Given the description of an element on the screen output the (x, y) to click on. 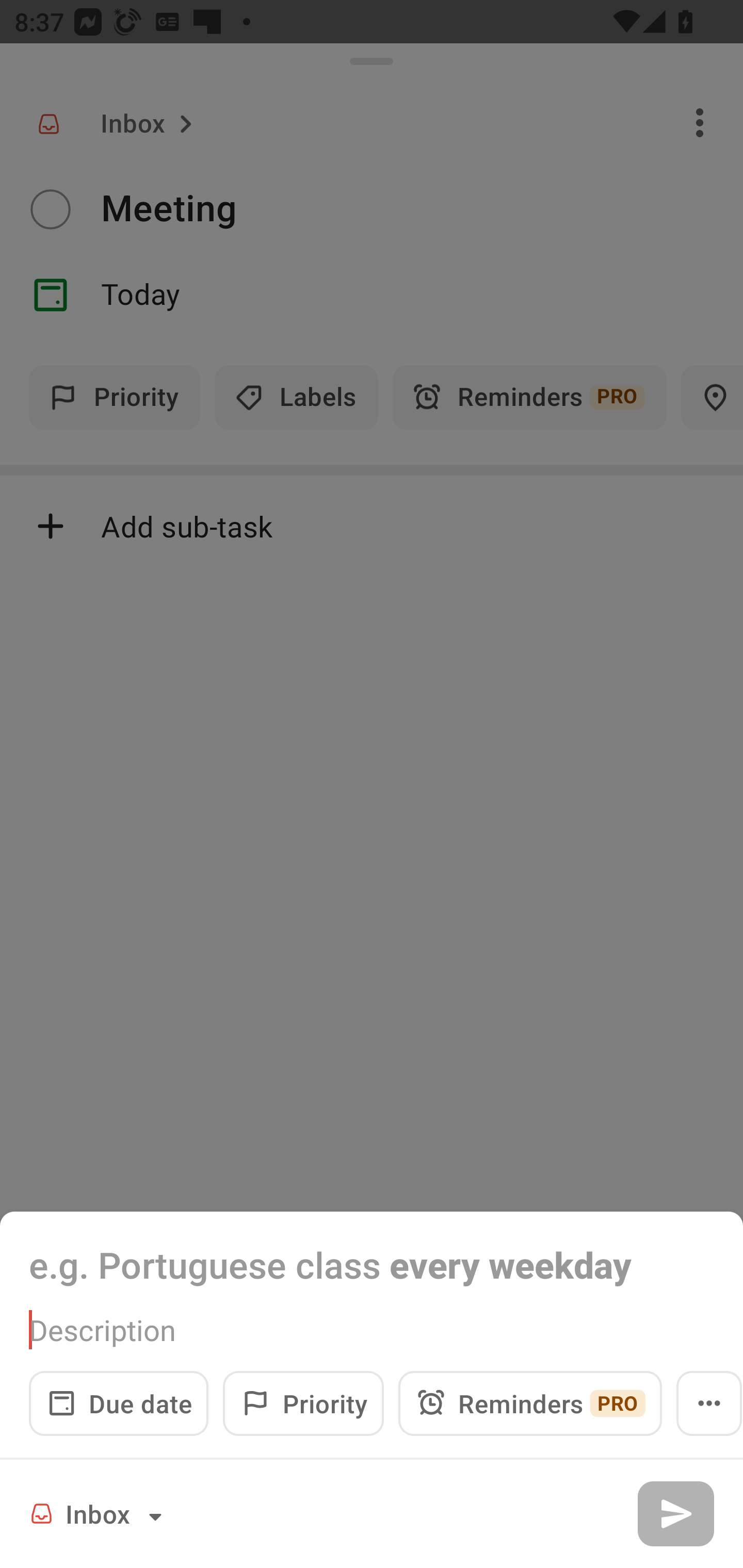
e.g. Portuguese class every weekday (371, 1264)
Description (371, 1330)
Due date Date (118, 1403)
Priority (303, 1403)
Reminders PRO Reminders (530, 1403)
Open menu (709, 1403)
Inbox Project (99, 1513)
Add (675, 1513)
